Given the description of an element on the screen output the (x, y) to click on. 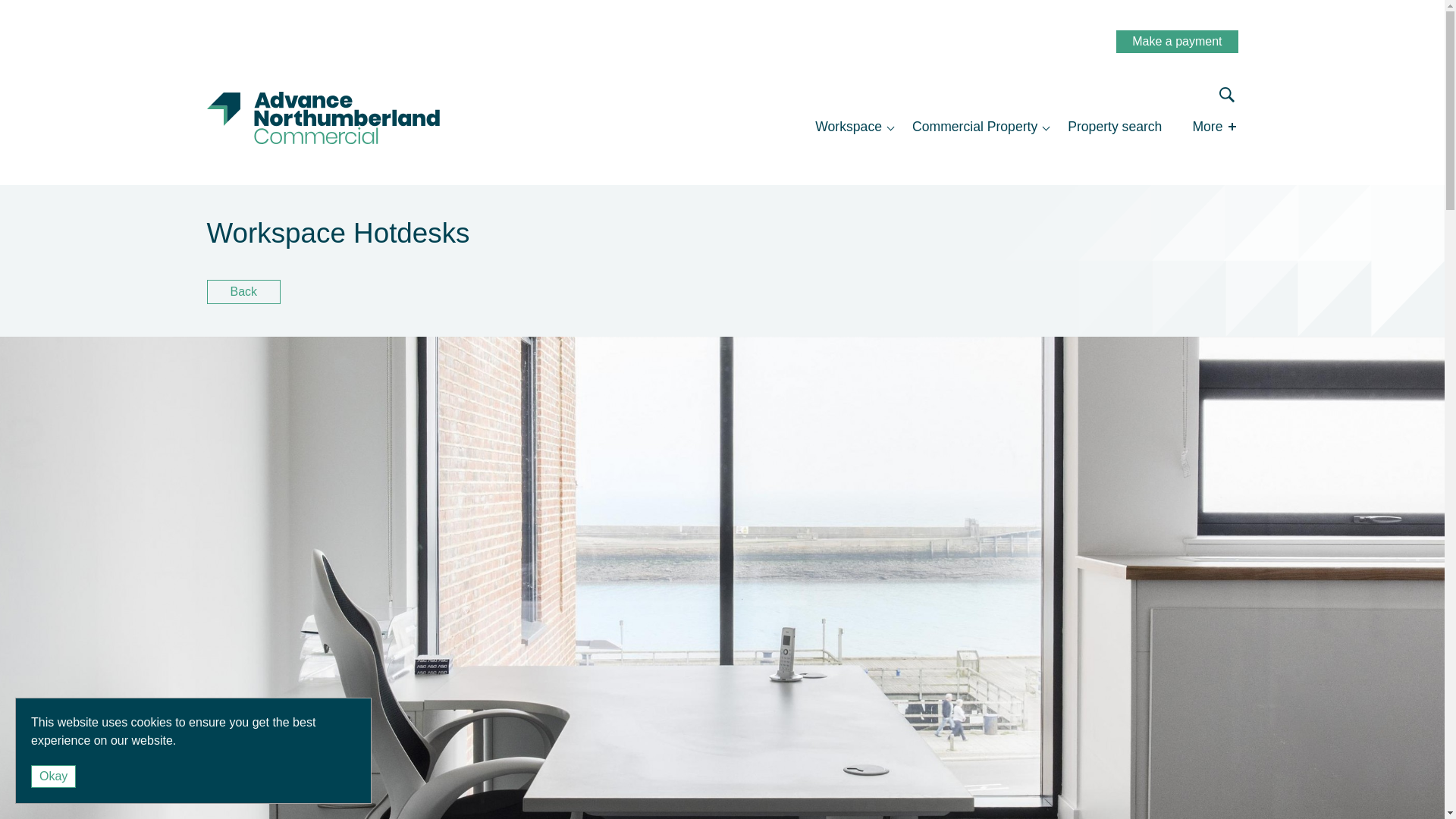
Advance Northumberland Commercial (293, 118)
Commercial Property (974, 126)
Make a payment (1176, 41)
Workspace (848, 126)
More (1207, 126)
Back (243, 291)
Property search (1114, 126)
Make a payment (1176, 41)
